Given the description of an element on the screen output the (x, y) to click on. 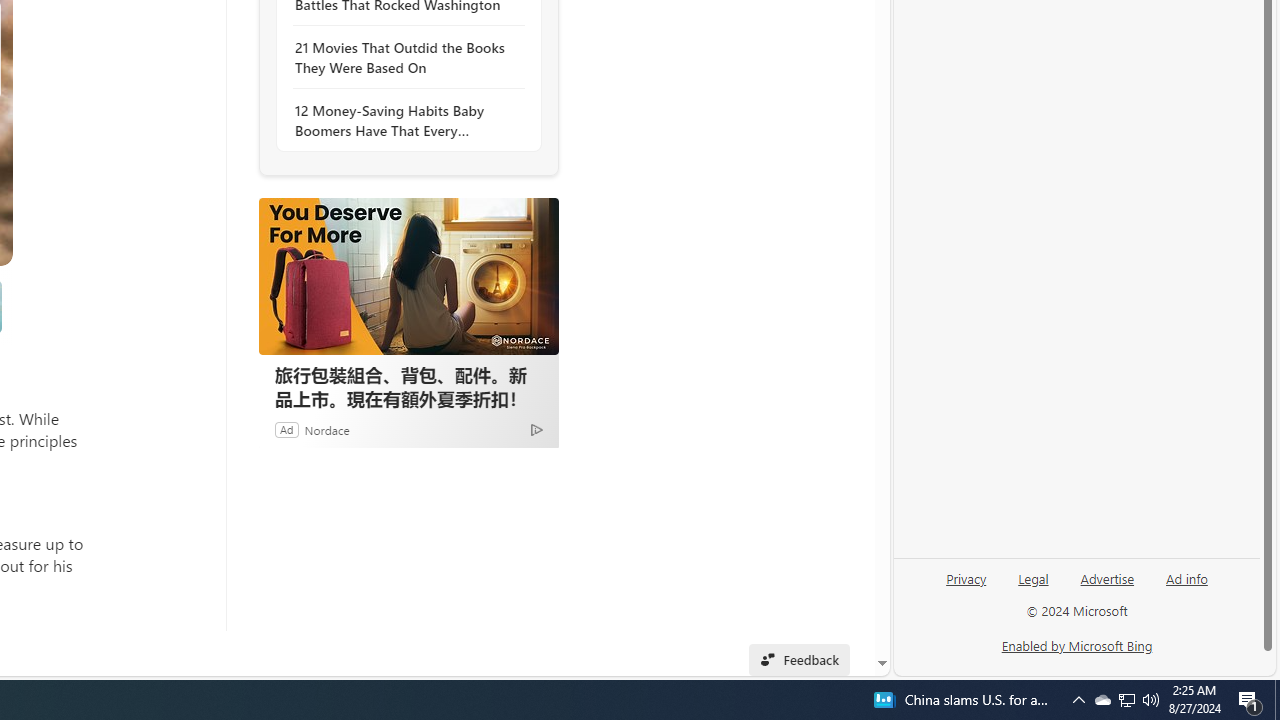
Legal (1033, 586)
Privacy (965, 577)
Privacy (966, 586)
Nordace (326, 429)
Advertise (1106, 586)
Ad Choice (535, 429)
21 Movies That Outdid the Books They Were Based On (403, 57)
Ad info (1186, 586)
Ad (286, 429)
Ad info (1187, 577)
Advertise (1107, 577)
Feedback (798, 659)
